Given the description of an element on the screen output the (x, y) to click on. 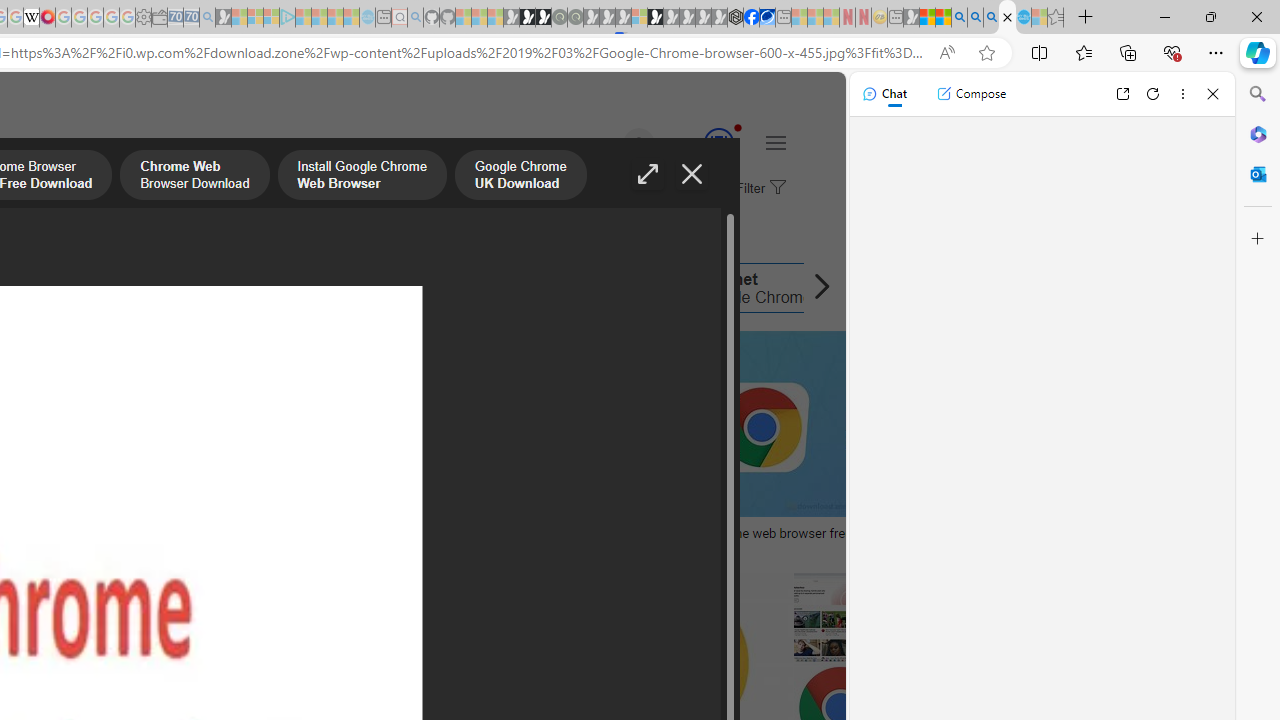
Target page - Wikipedia (31, 17)
How to download & install Chrome on Windows 10 /11 (475, 533)
Filter (758, 189)
Google Chrome UK Download (520, 177)
Install Google Chrome Web Browser (361, 177)
2009 Bing officially replaced Live Search on June 3 - Search (975, 17)
wizardsgase - BlogSave (208, 448)
